Given the description of an element on the screen output the (x, y) to click on. 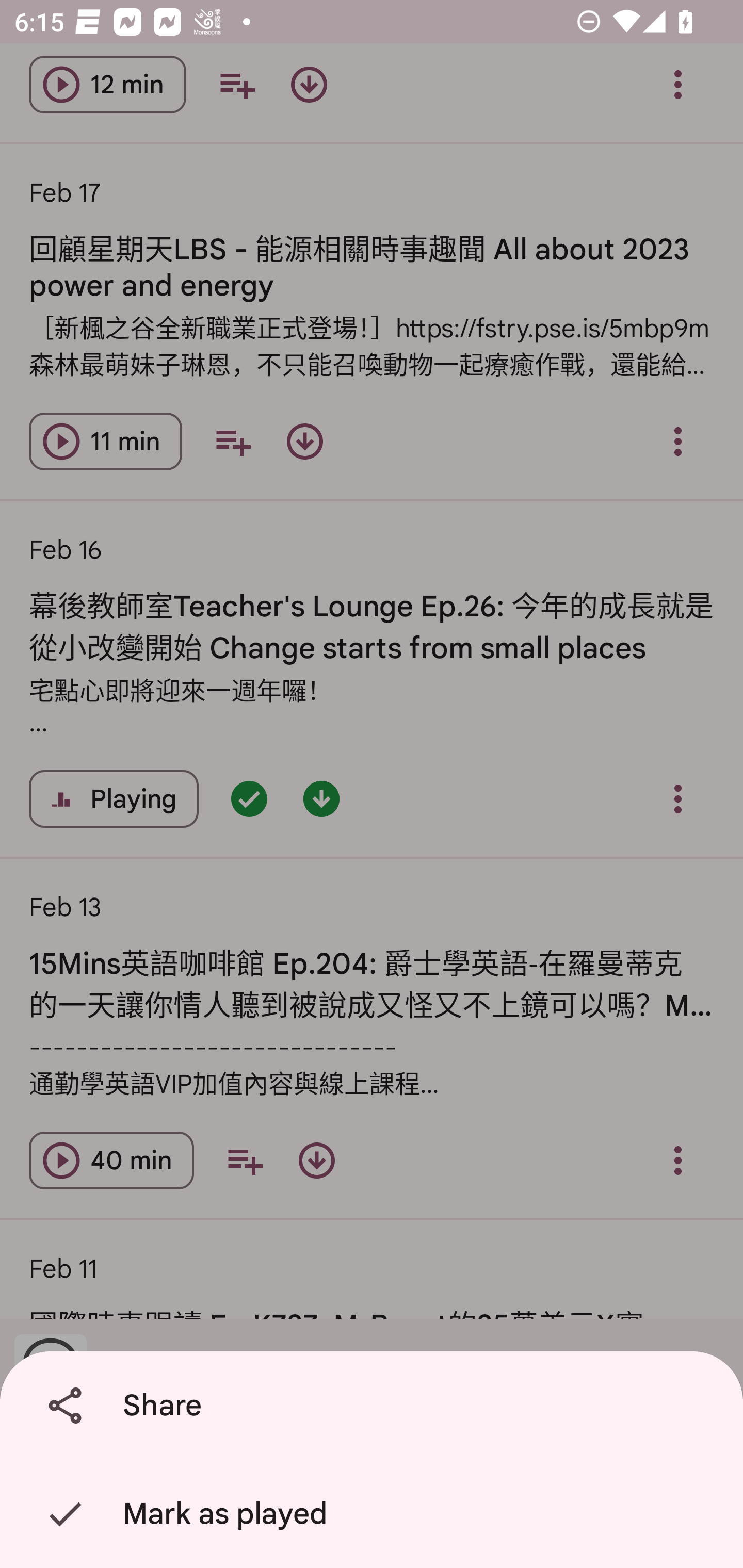
Share (375, 1405)
Mark as played (375, 1513)
